Given the description of an element on the screen output the (x, y) to click on. 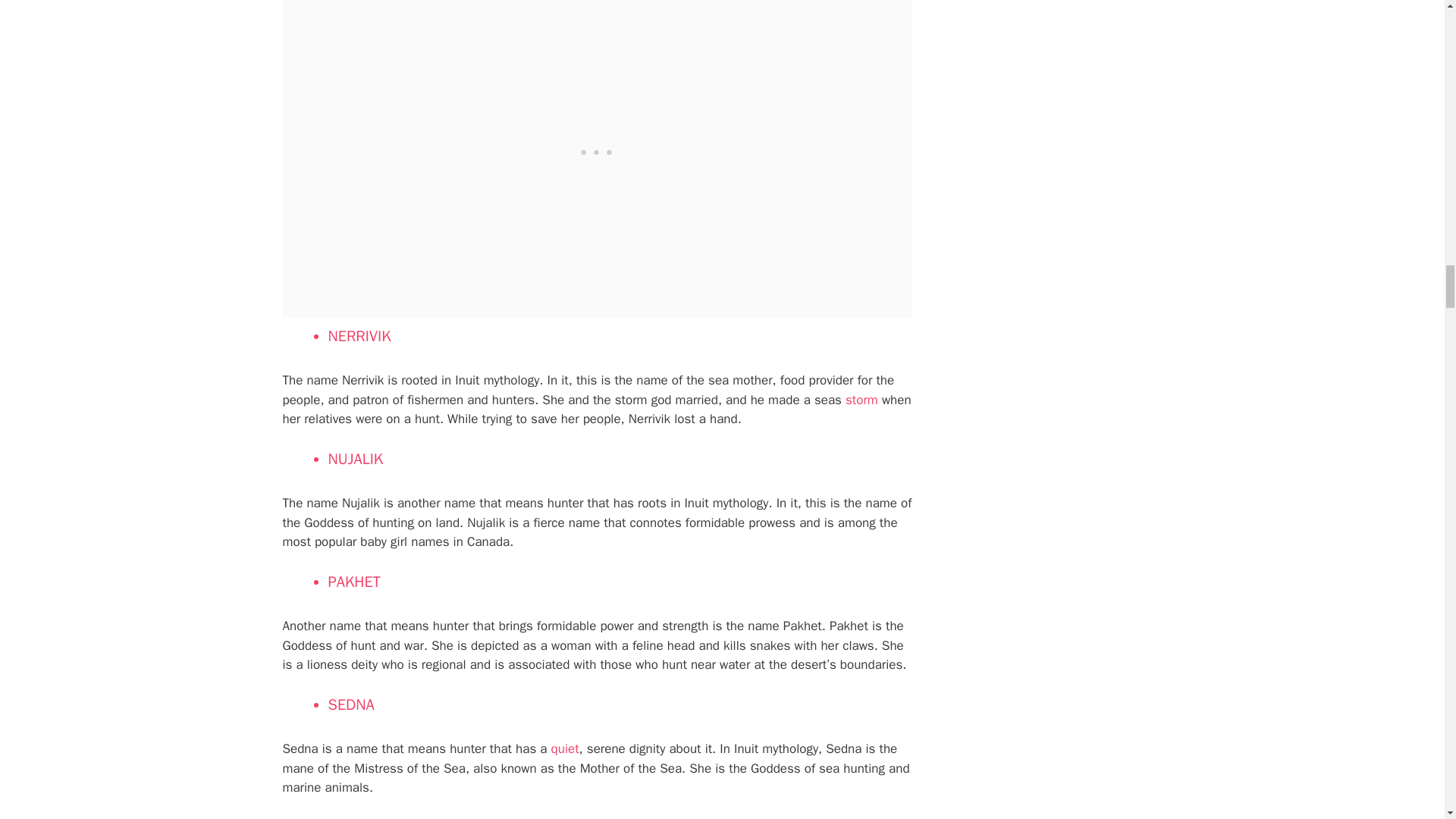
quiet (565, 748)
storm (861, 399)
